Given the description of an element on the screen output the (x, y) to click on. 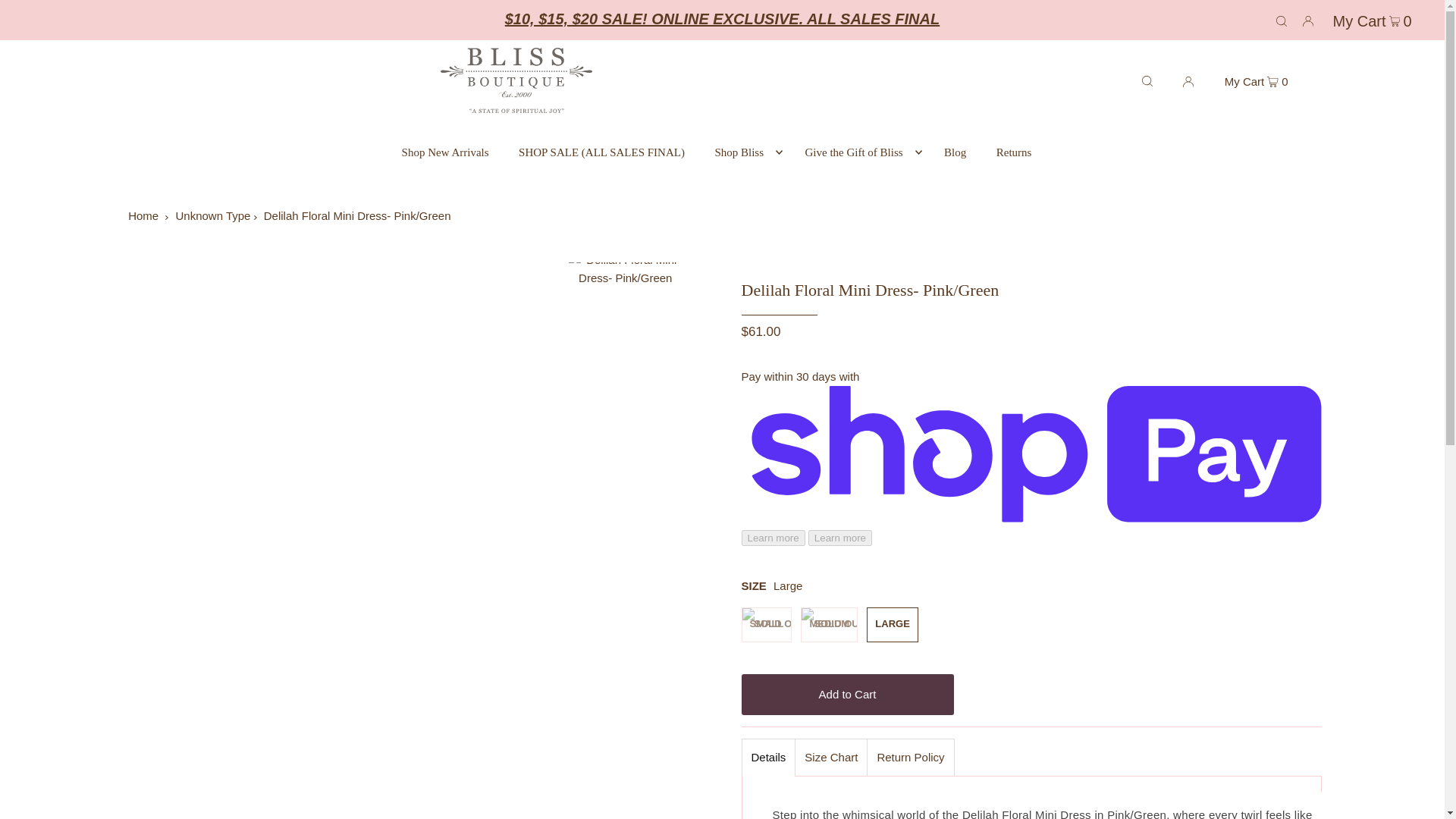
Shop Bliss (744, 152)
Shop New Arrivals (445, 152)
Add to Cart (847, 694)
Home (143, 215)
